Given the description of an element on the screen output the (x, y) to click on. 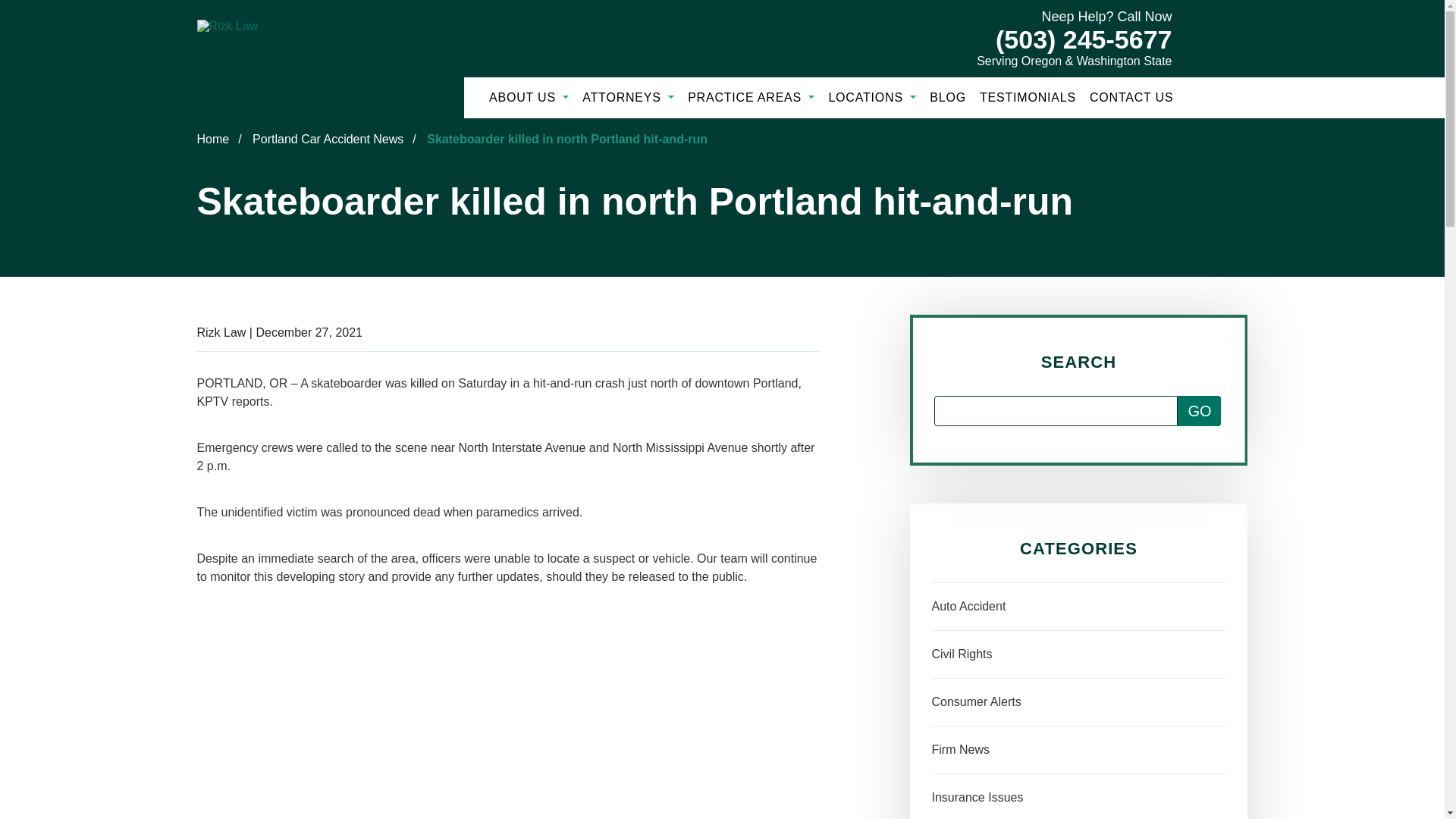
About Us (529, 96)
Practice Areas (751, 96)
Go (1199, 410)
Attorneys (627, 96)
ABOUT US (529, 96)
